Given the description of an element on the screen output the (x, y) to click on. 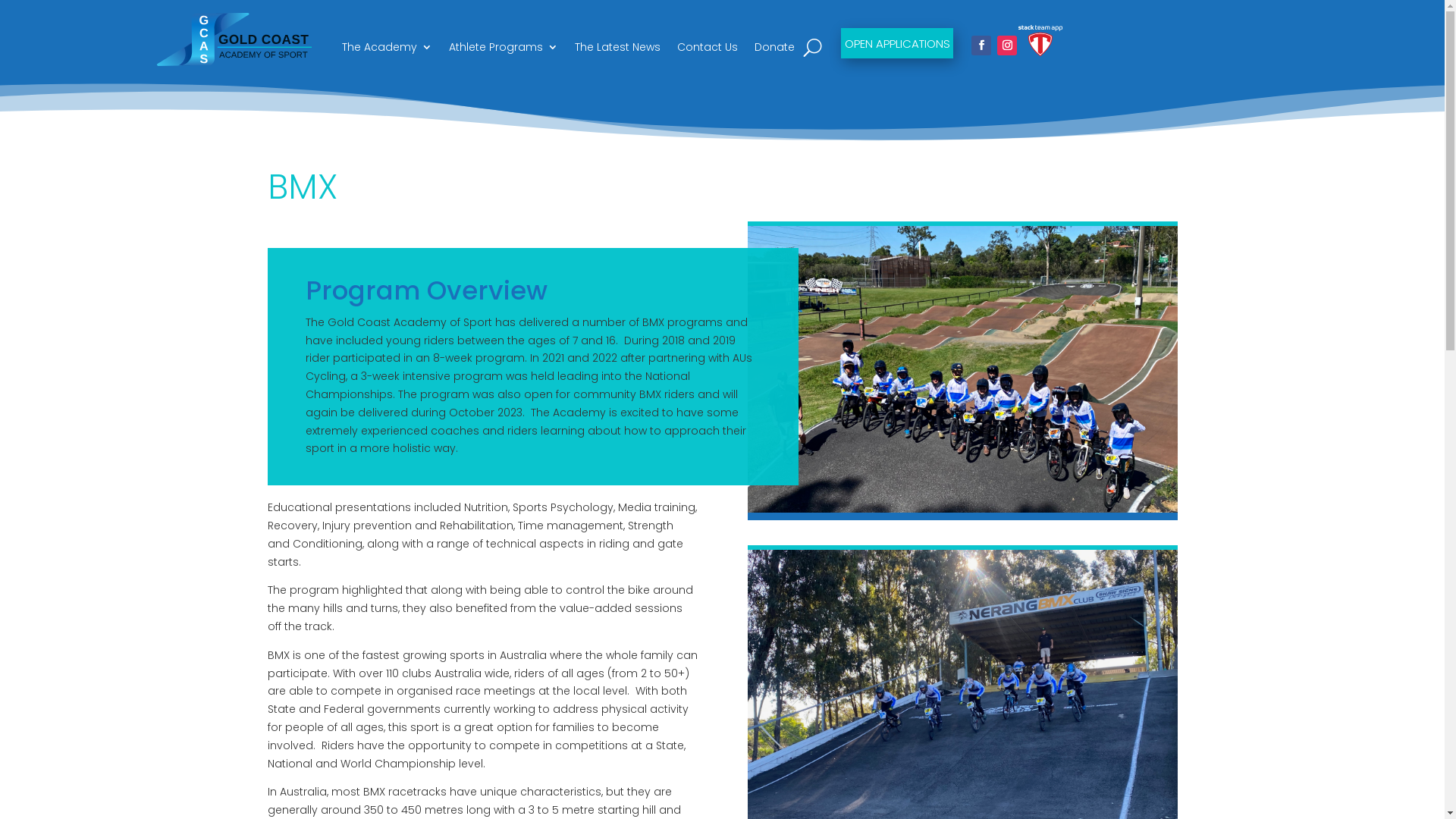
Follow on Facebook Element type: hover (981, 45)
Contact Us Element type: text (707, 49)
OPEN APPLICATIONS Element type: text (896, 43)
Athlete Programs Element type: text (503, 49)
stack-team-app-logo-negative-version-primary-logo Element type: hover (1040, 40)
Donate Element type: text (774, 49)
The Latest News Element type: text (617, 49)
GCAS LOGO FINAL SVG Element type: hover (235, 41)
The Academy Element type: text (387, 49)
18 Element type: hover (962, 368)
Follow on Instagram Element type: hover (1006, 45)
